Given the description of an element on the screen output the (x, y) to click on. 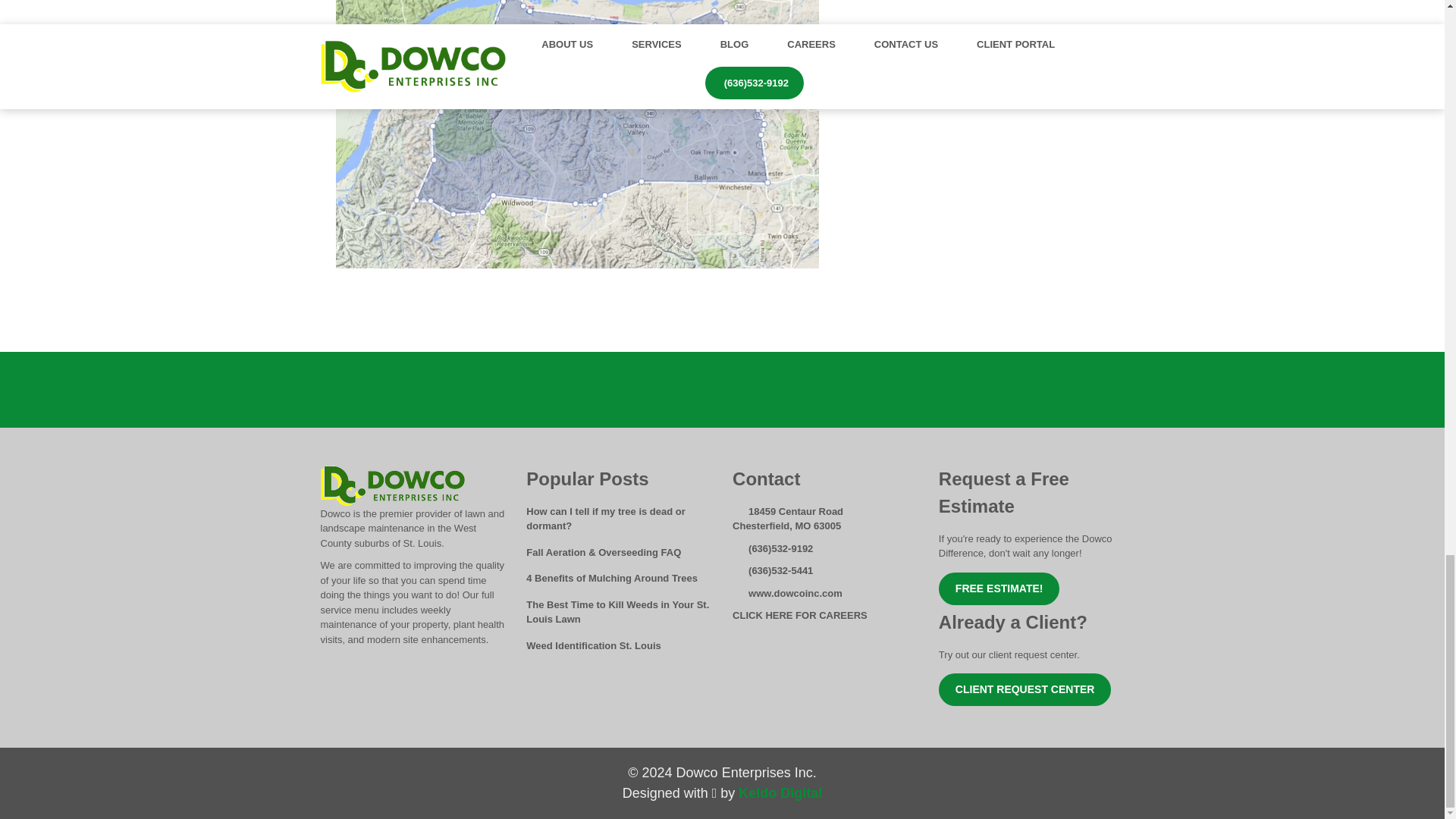
logo (392, 486)
Client Request Center (1025, 689)
commercial snow removal chesterfield mo map (576, 134)
FREE ESTIMATE! (999, 588)
